Given the description of an element on the screen output the (x, y) to click on. 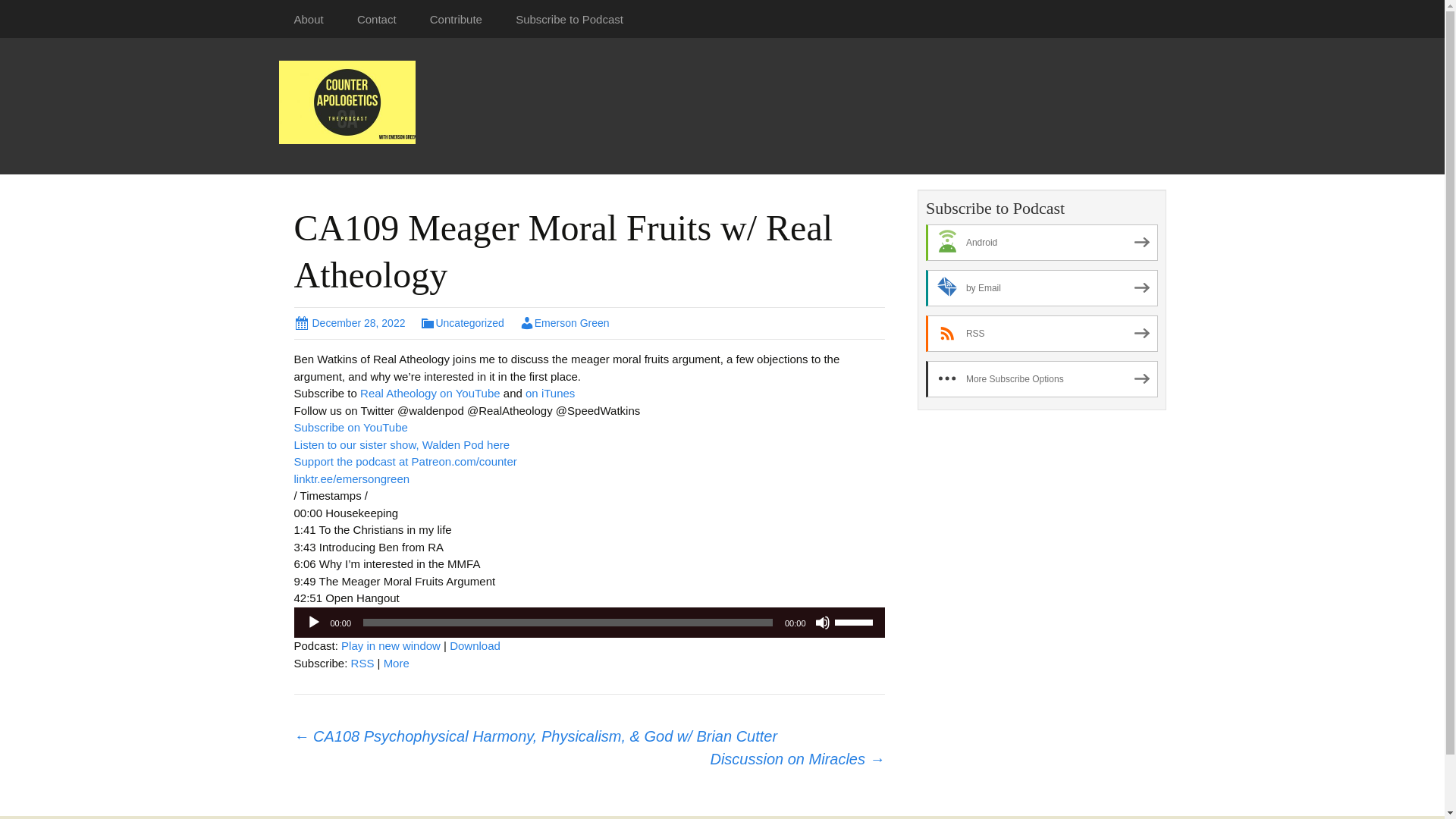
More Subscribe Options (1041, 379)
Download (474, 645)
Android (1041, 242)
Uncategorized (461, 322)
Subscribe via RSS (362, 662)
RSS (1041, 333)
Mute (821, 622)
Emerson Green (564, 322)
Subscribe on YouTube (350, 427)
View all posts by Emerson Green (564, 322)
Download (474, 645)
RSS (362, 662)
by Email (1041, 288)
December 28, 2022 (350, 322)
Counter Apologetics (346, 101)
